Given the description of an element on the screen output the (x, y) to click on. 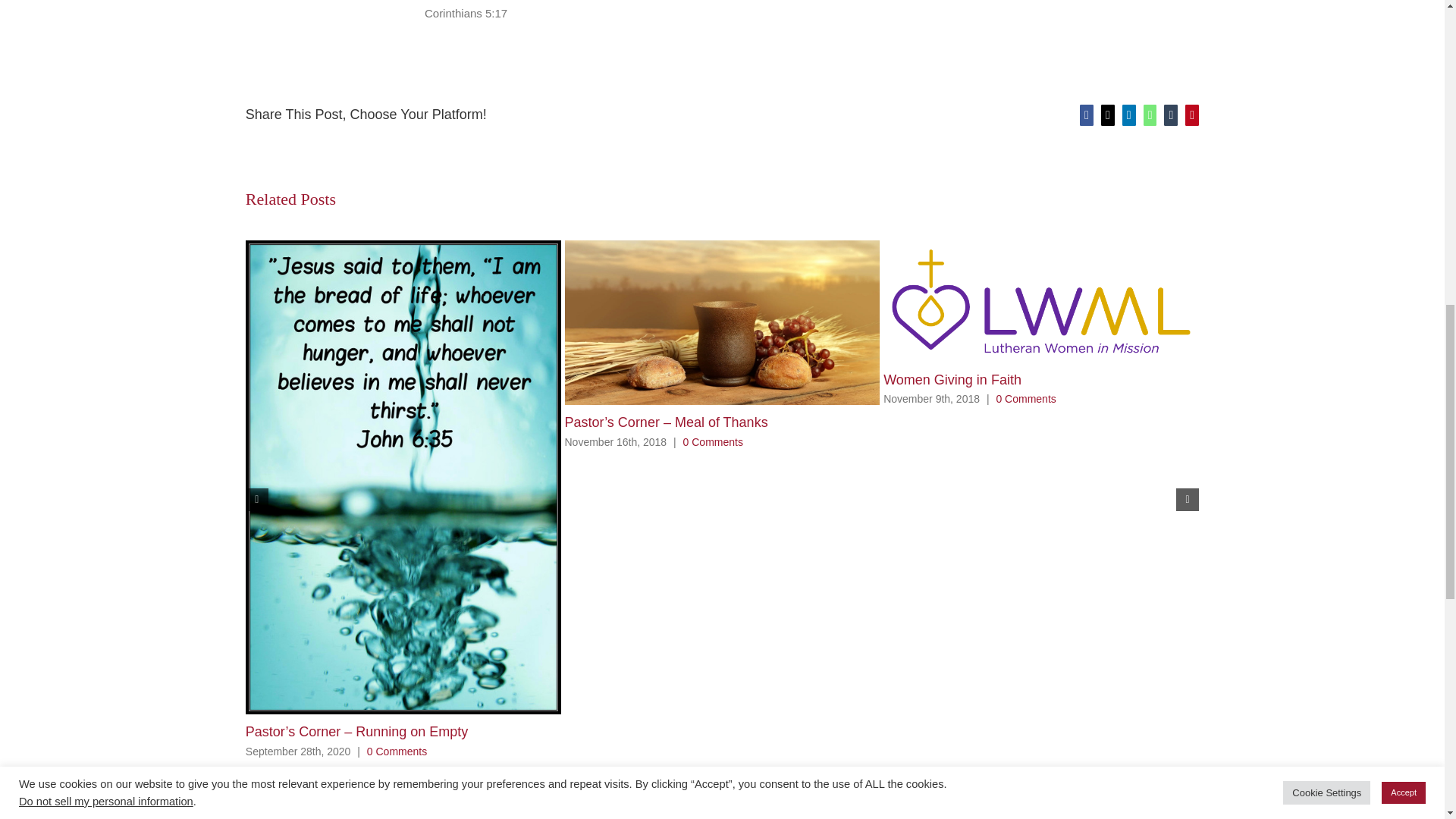
Women Giving in Faith (952, 379)
